Given the description of an element on the screen output the (x, y) to click on. 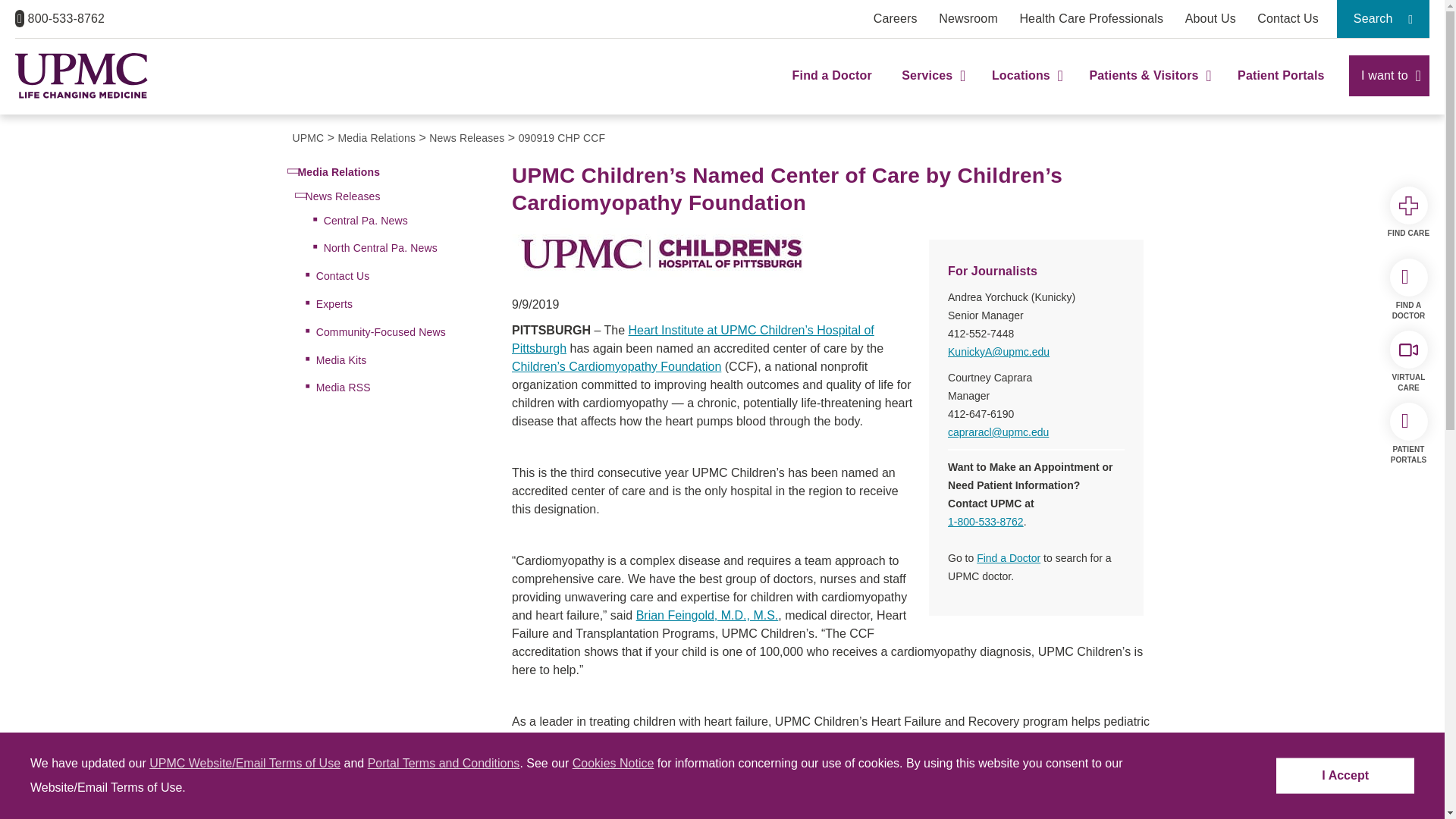
Cookies Notice (612, 762)
Search (1382, 18)
Contact UPMC (1288, 18)
About Us (1210, 18)
Portal Terms and Conditions (443, 762)
I Accept (1344, 775)
Contact Us (1288, 18)
Health Care Professionals (1091, 18)
Newsroom (968, 18)
Careers (895, 18)
800-533-8762 (59, 18)
UPMC (81, 75)
Services (930, 89)
Find a Doctor (832, 89)
Learn more about careers and job openings at UPMC. (895, 18)
